Given the description of an element on the screen output the (x, y) to click on. 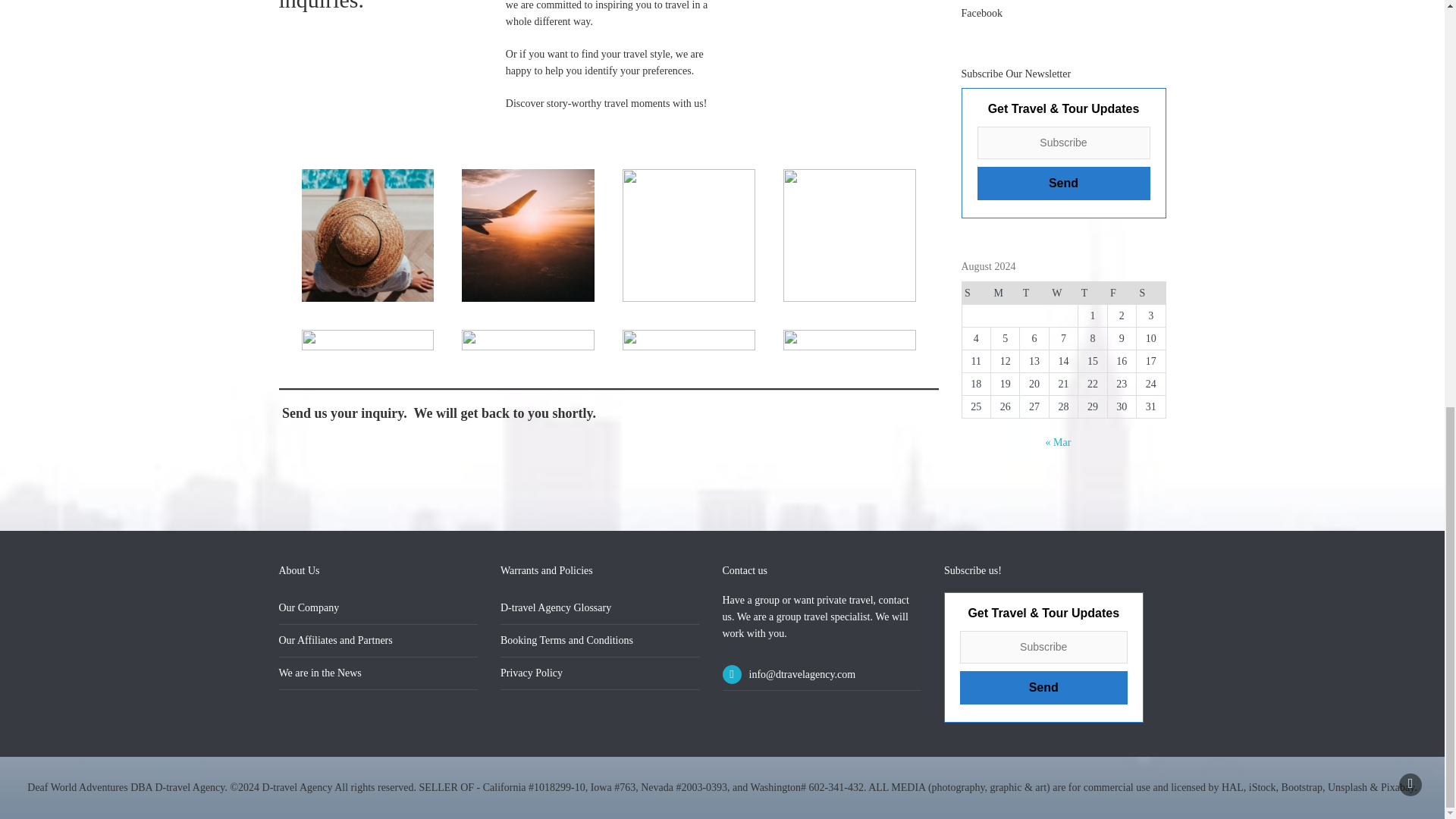
Send (1063, 183)
Monday (1004, 292)
Sunday (975, 292)
Our Company (309, 607)
Send (1042, 687)
Send (1042, 687)
We are in the News (320, 672)
Booking Terms and Conditions (566, 640)
Friday (1120, 292)
Our Affiliates and Partners (336, 640)
